Given the description of an element on the screen output the (x, y) to click on. 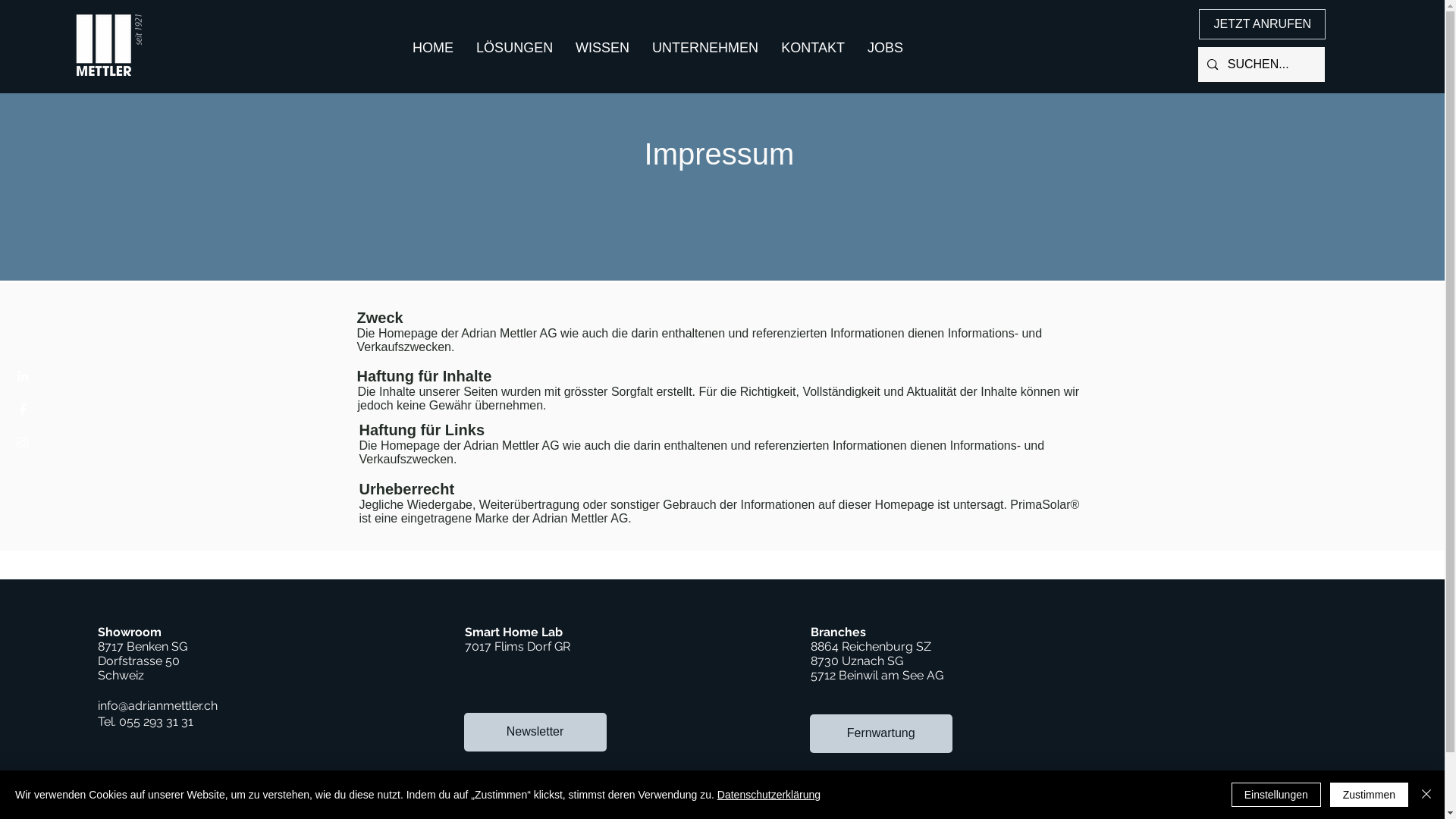
UNTERNEHMEN Element type: text (704, 47)
info@adrianmettler.ch Element type: text (157, 705)
Fernwartung Element type: text (880, 733)
JOBS Element type: text (885, 47)
Tel. 055 293 31 31 Element type: text (145, 721)
Einstellungen Element type: text (1276, 794)
Newsletter Element type: text (535, 731)
JETZT ANRUFEN Element type: text (1261, 24)
Embedded Content Element type: hover (1249, 671)
Zustimmen Element type: text (1369, 794)
HOME Element type: text (432, 47)
WISSEN Element type: text (602, 47)
KONTAKT Element type: text (812, 47)
